Given the description of an element on the screen output the (x, y) to click on. 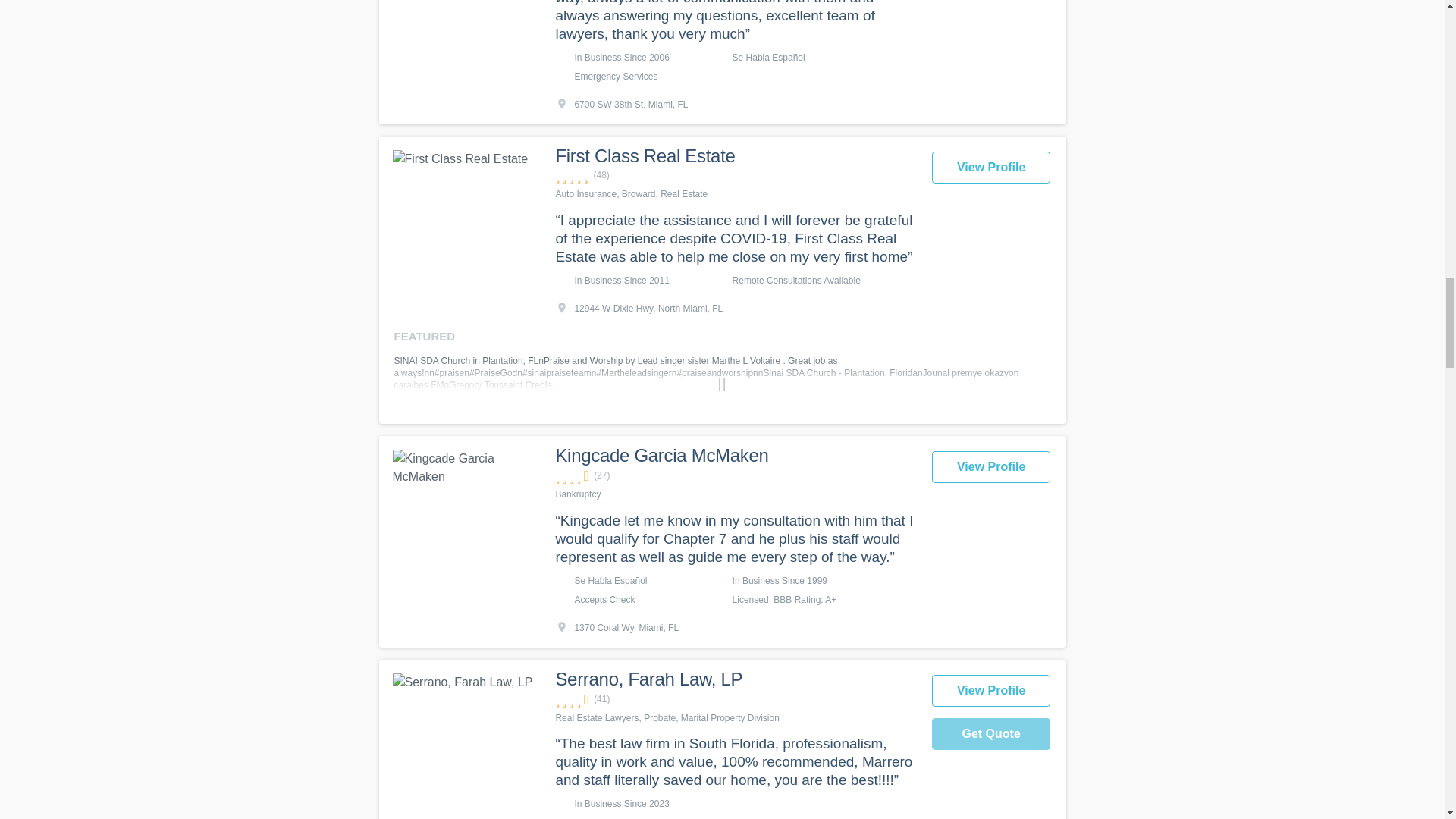
4.3 (734, 699)
4.0 (734, 475)
4.8 (734, 175)
